Given the description of an element on the screen output the (x, y) to click on. 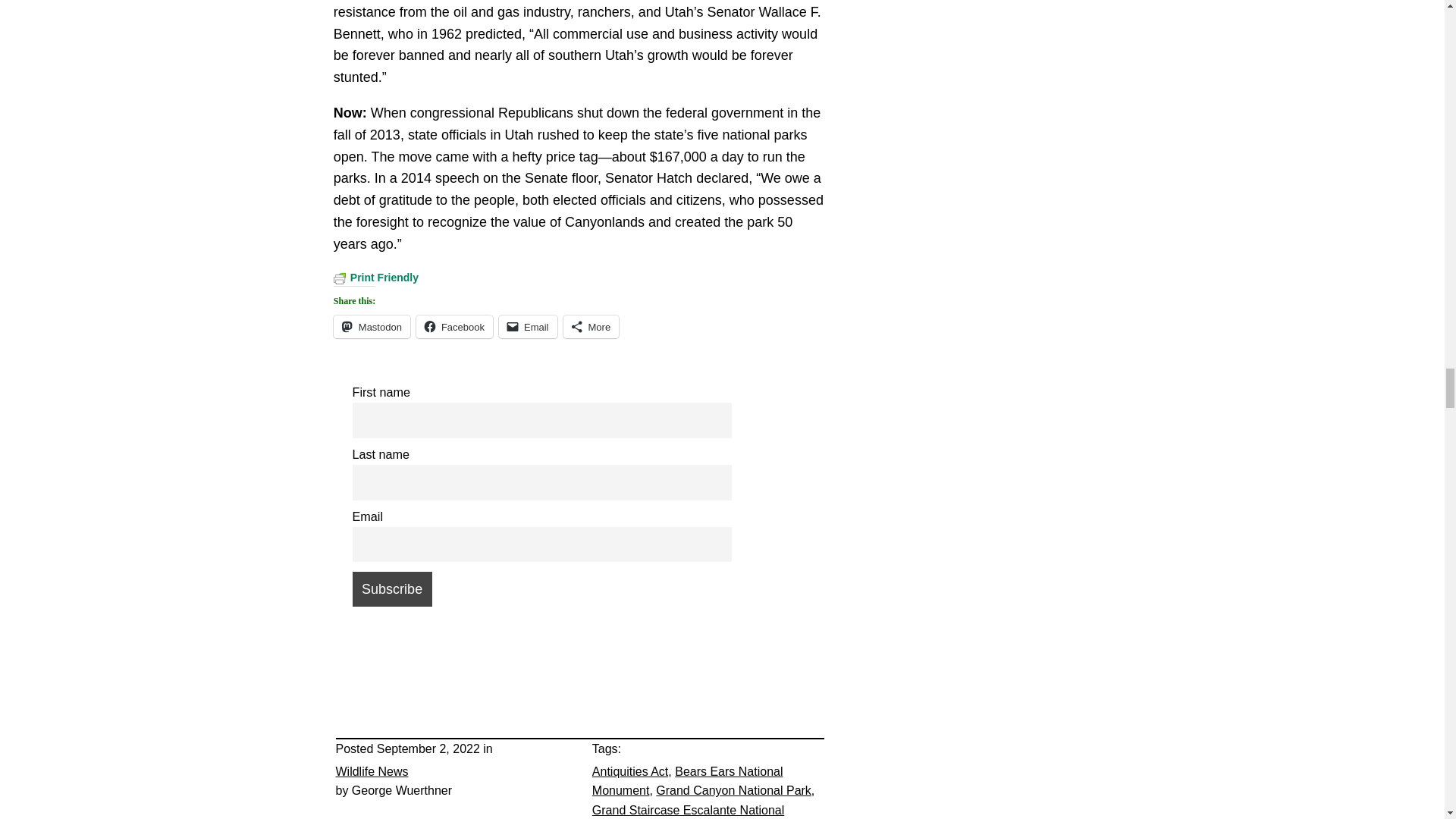
Click to email a link to a friend (528, 326)
Click to share on Facebook (454, 326)
Click to share on Mastodon (371, 326)
Subscribe (391, 588)
